Given the description of an element on the screen output the (x, y) to click on. 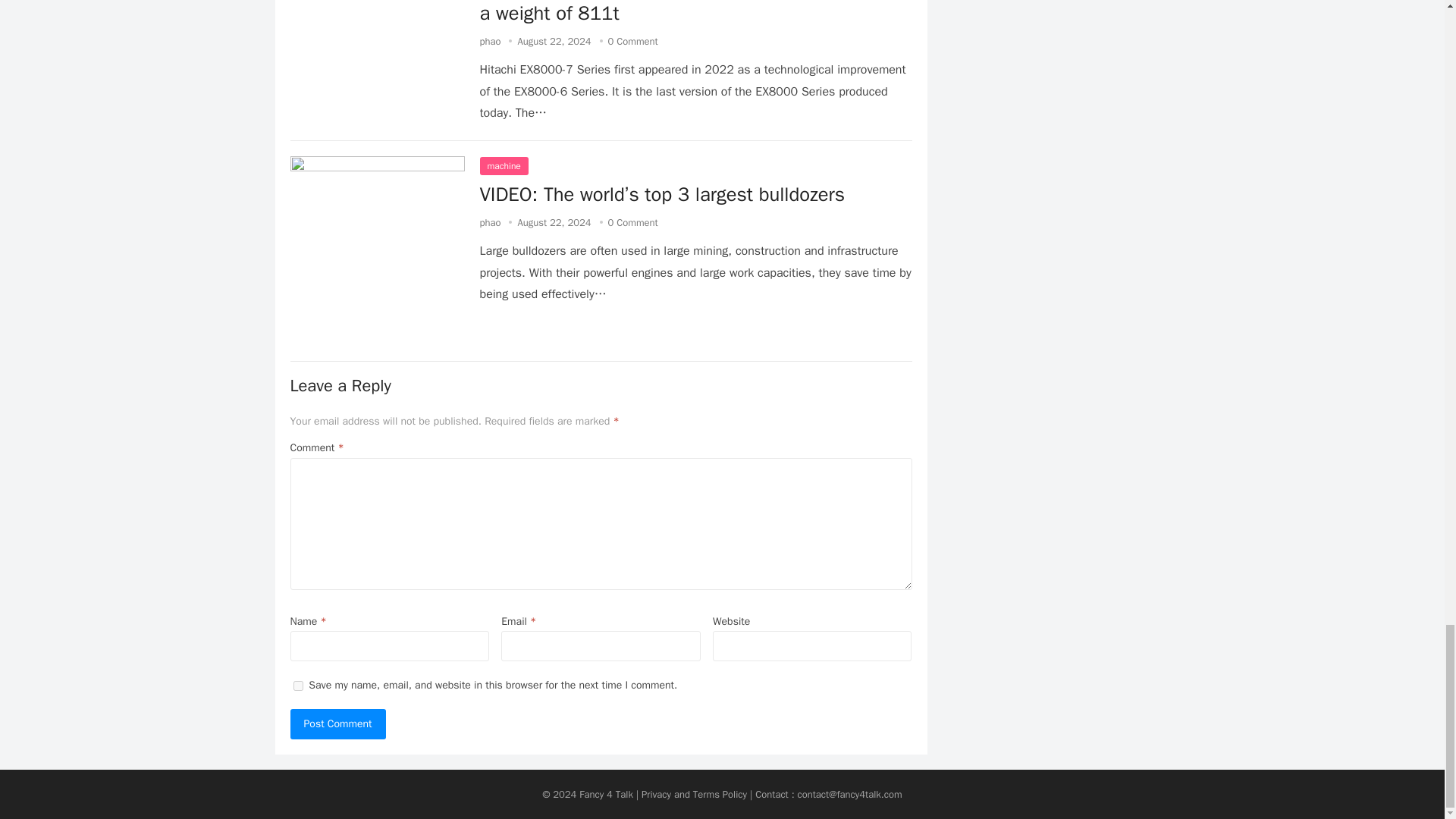
Posts by phao (489, 222)
Posts by phao (489, 41)
yes (297, 685)
Post Comment (337, 724)
phao (489, 41)
0 Comment (633, 41)
